Given the description of an element on the screen output the (x, y) to click on. 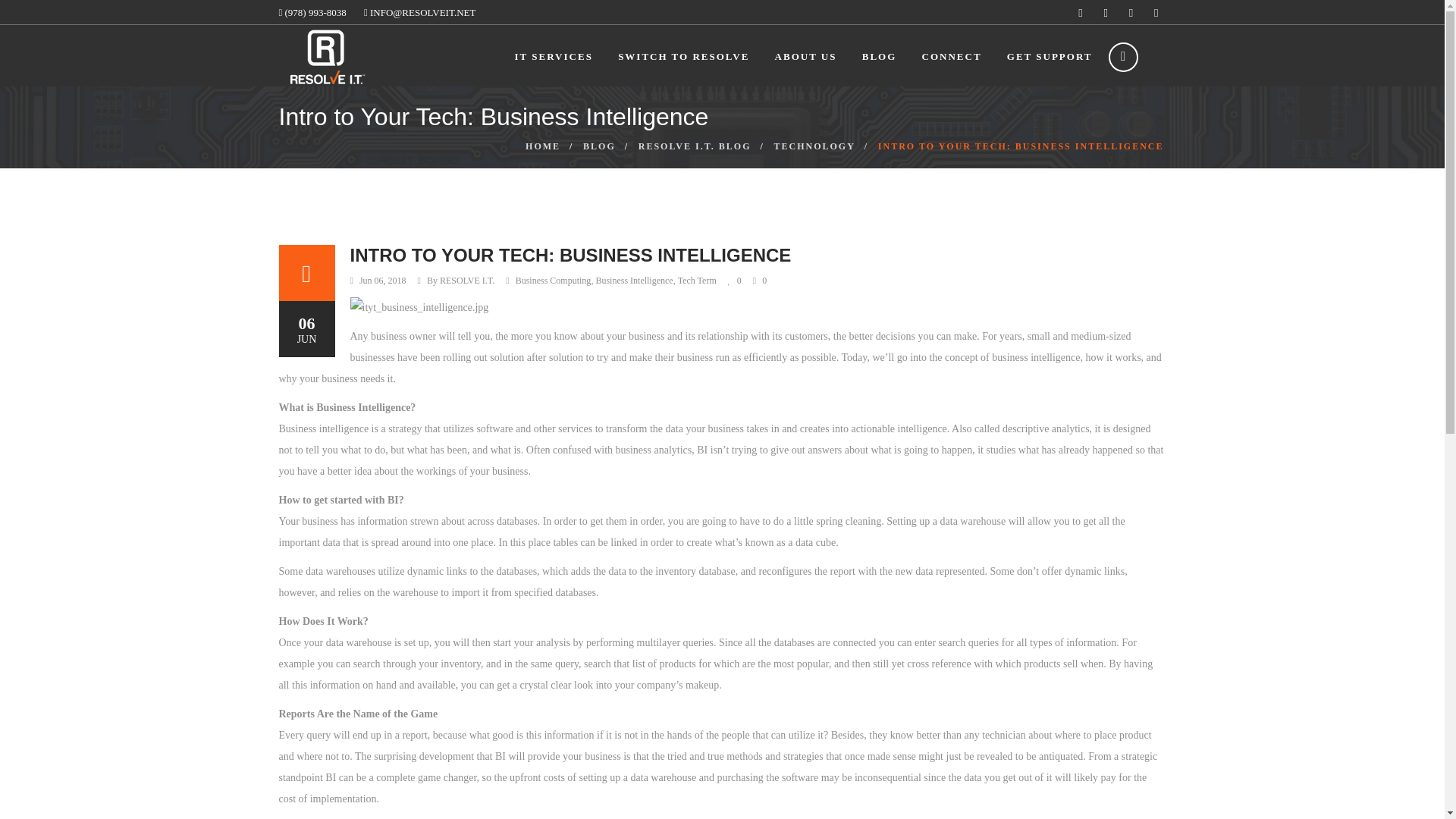
BLOG (878, 56)
SWITCH TO RESOLVE (683, 56)
IT SERVICES (553, 56)
CONNECT (951, 56)
TECHNOLOGY (813, 145)
HOME (542, 145)
RESOLVE I.T. BLOG (695, 145)
GET SUPPORT (1050, 56)
ABOUT US (805, 56)
By RESOLVE I.T. (460, 280)
